Given the description of an element on the screen output the (x, y) to click on. 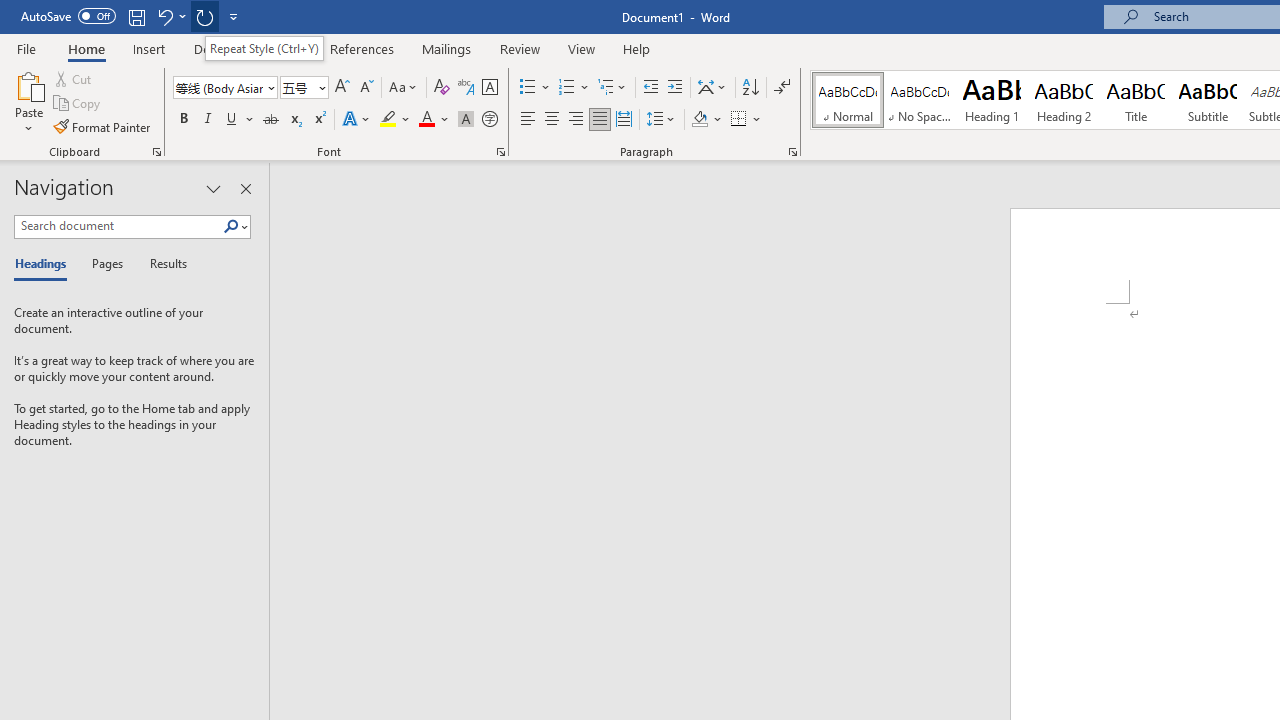
Undo Style (170, 15)
Font Color (434, 119)
Bullets (527, 87)
Decrease Indent (650, 87)
Underline (232, 119)
Customize Quick Access Toolbar (234, 15)
Close pane (246, 188)
Strikethrough (270, 119)
Headings (45, 264)
Class: NetUIImage (231, 226)
Insert (149, 48)
Bold (183, 119)
